Given the description of an element on the screen output the (x, y) to click on. 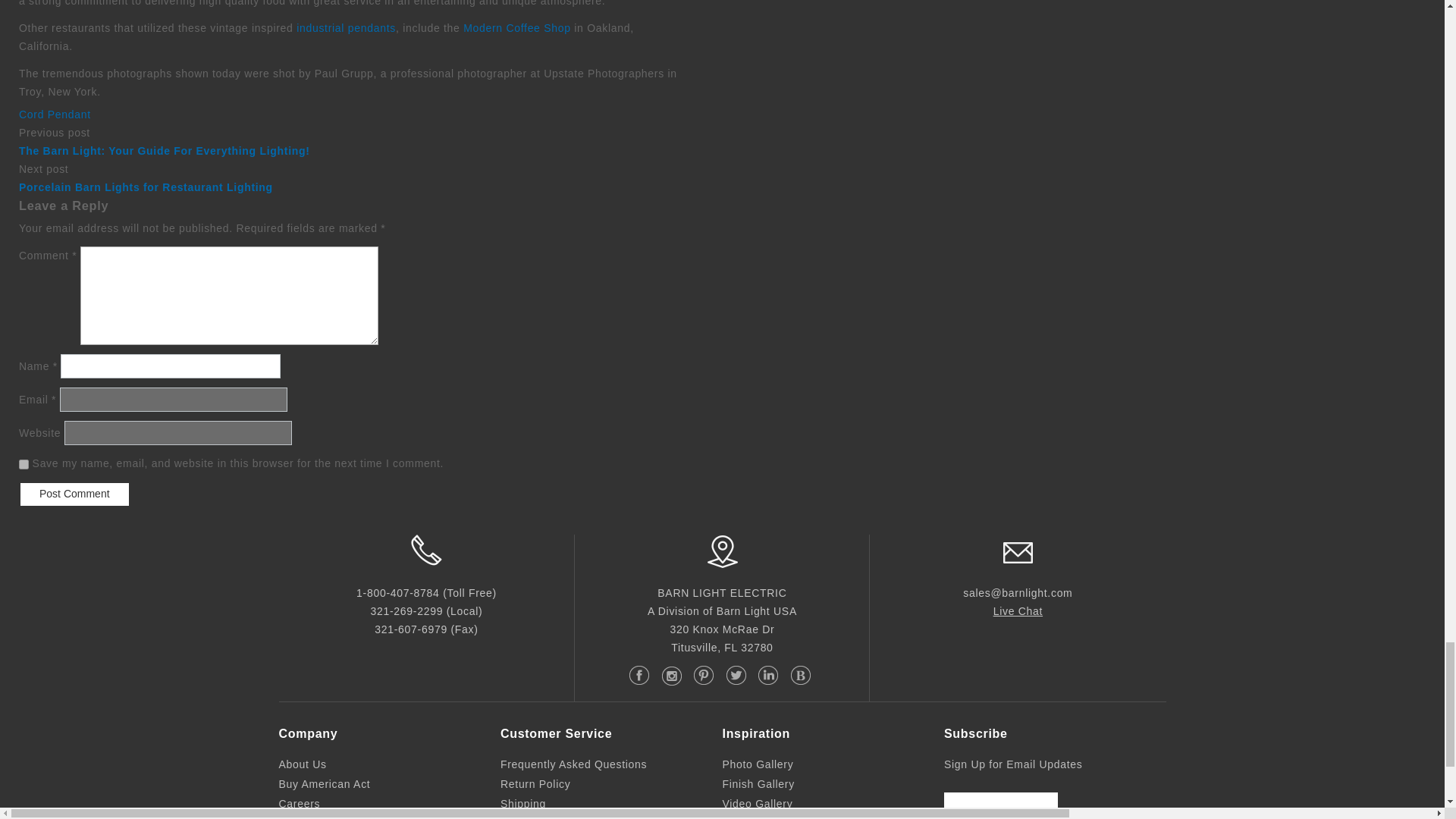
Post Comment (74, 493)
yes (23, 464)
